Given the description of an element on the screen output the (x, y) to click on. 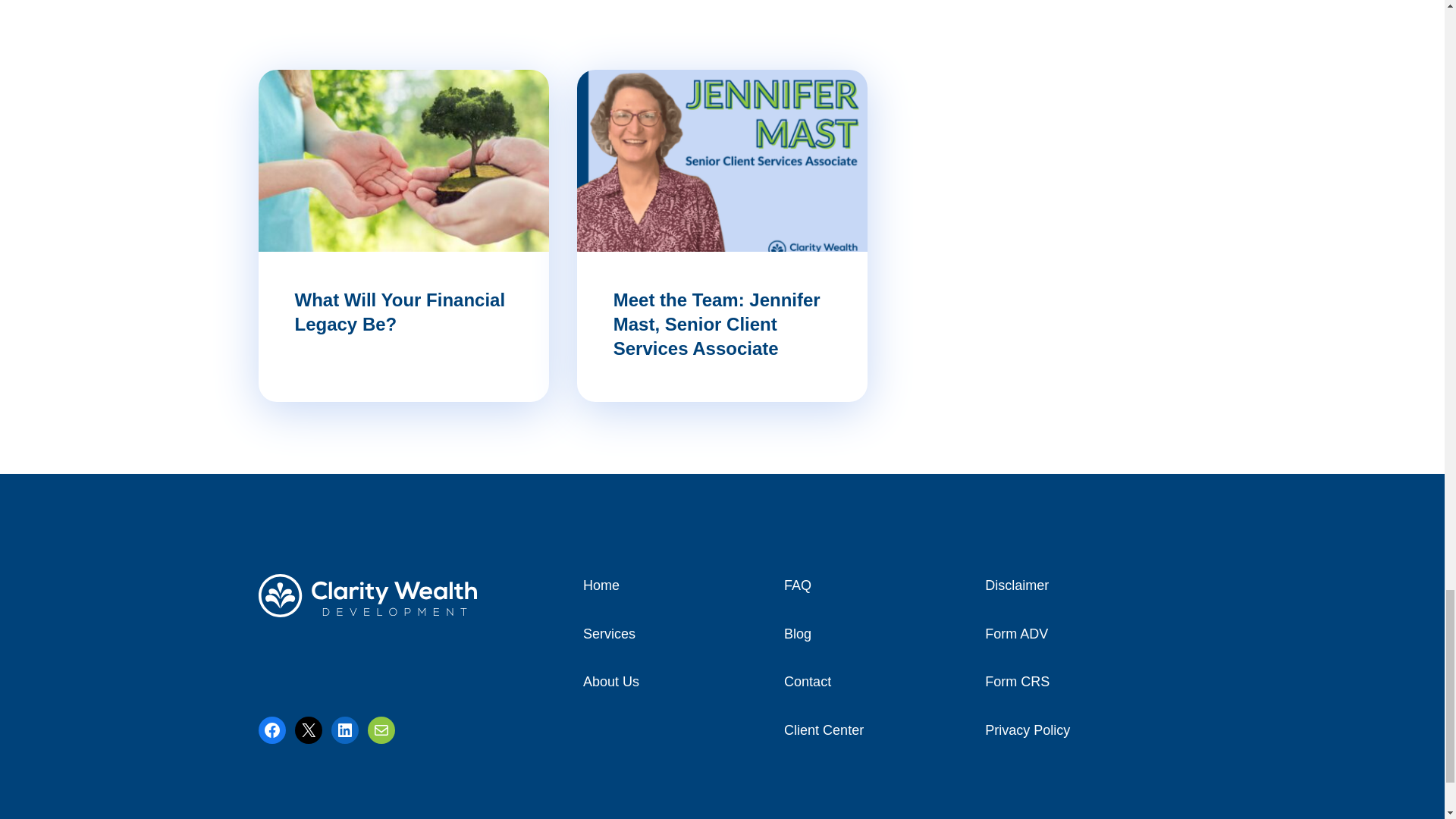
What Will Your Financial Legacy Be? (399, 311)
